Given the description of an element on the screen output the (x, y) to click on. 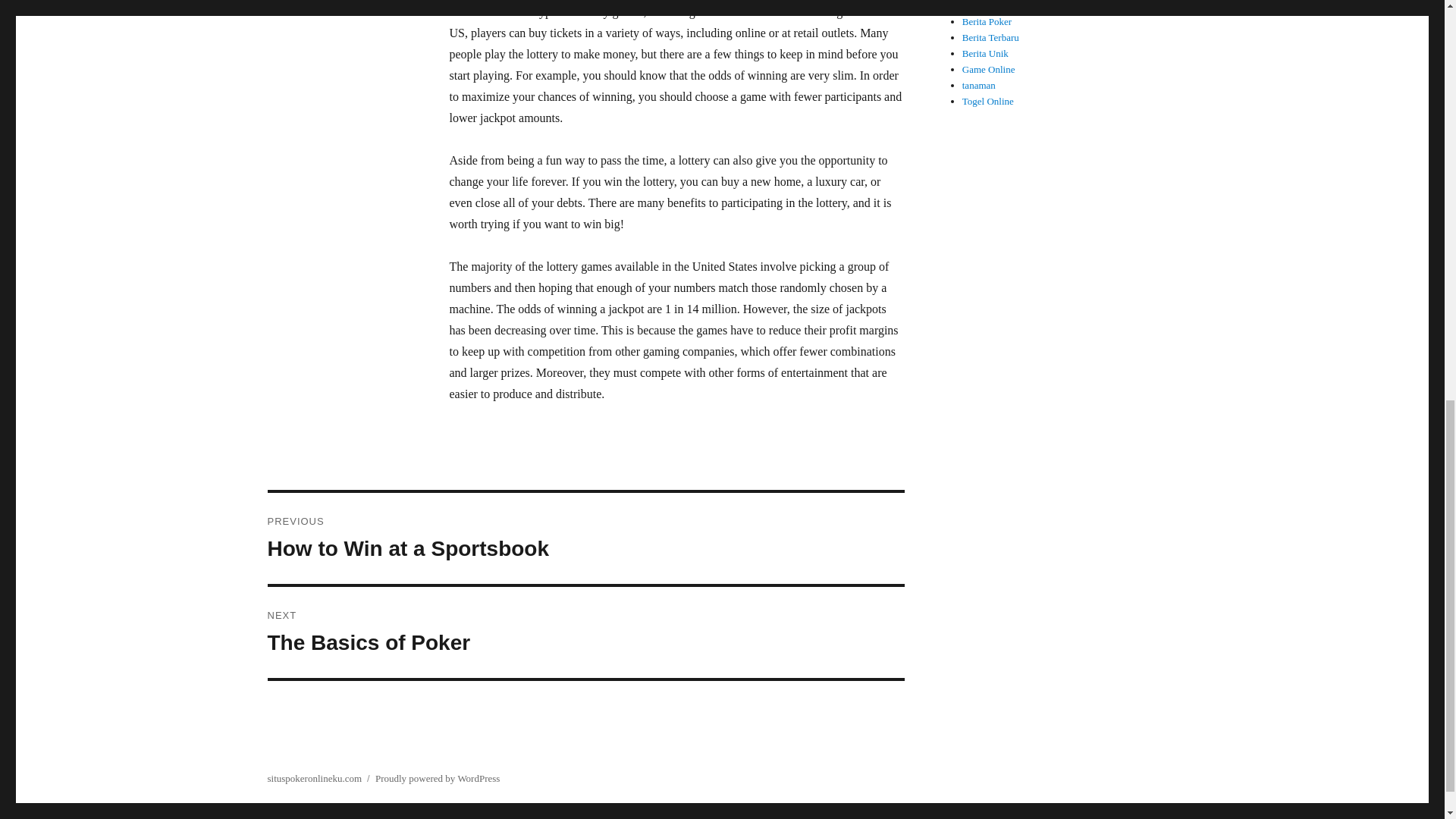
Togel Online (987, 101)
Berita Poker (585, 538)
Berita Terbaru (585, 632)
Berita Terbaru (986, 21)
Berita Harian (990, 37)
situspokeronlineku.com (990, 37)
tanaman (988, 5)
Proudly powered by WordPress (313, 778)
